Given the description of an element on the screen output the (x, y) to click on. 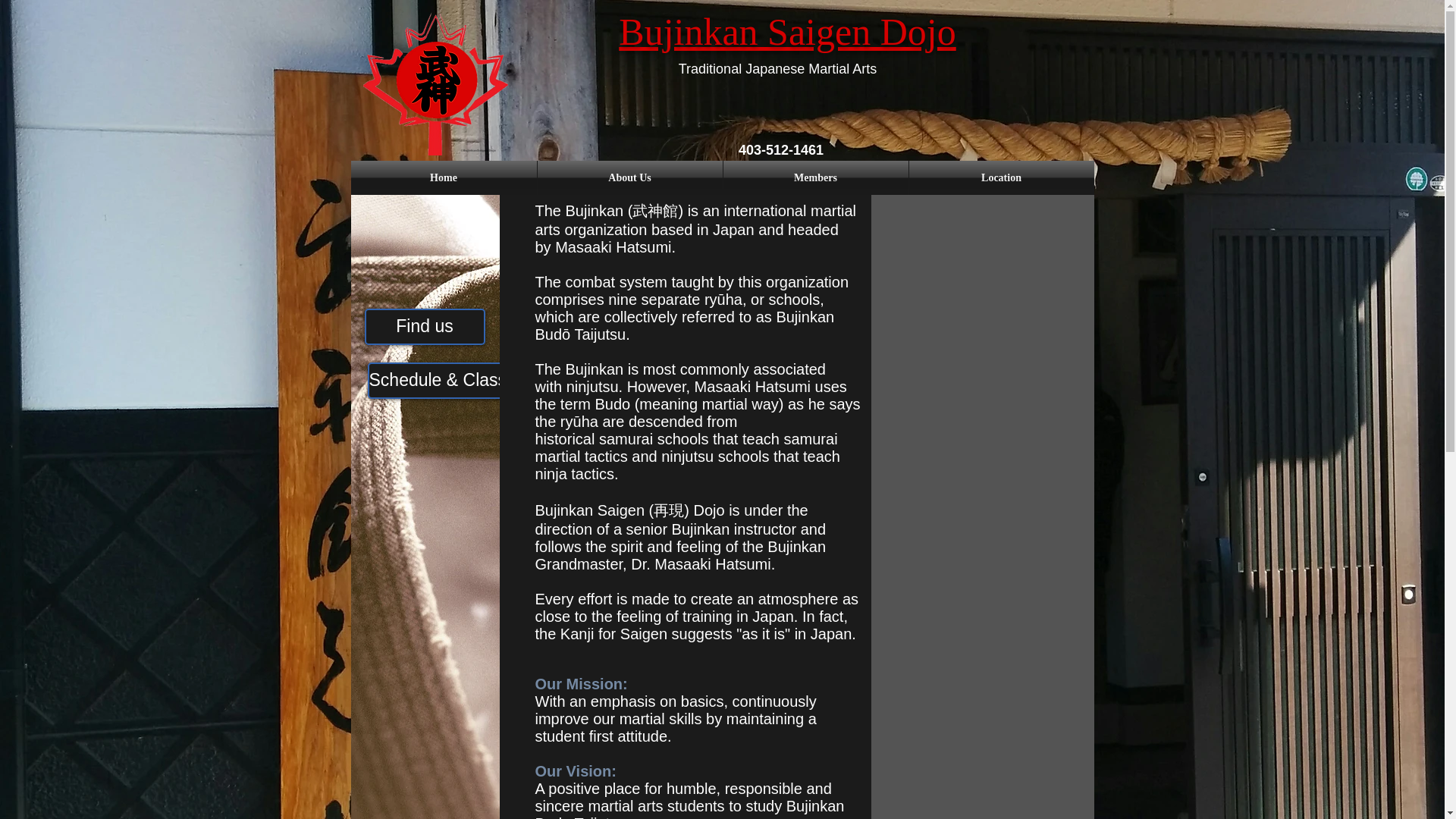
Location (1000, 177)
Find us (424, 326)
Saigen Logo (434, 83)
ninjutsu (592, 386)
Members (815, 177)
samurai (625, 438)
Bujinkan Saigen Dojo (786, 31)
Masaaki Hatsumi (612, 247)
Twitter Follow (950, 726)
Budo (612, 403)
Home (442, 177)
About Us (629, 177)
